Given the description of an element on the screen output the (x, y) to click on. 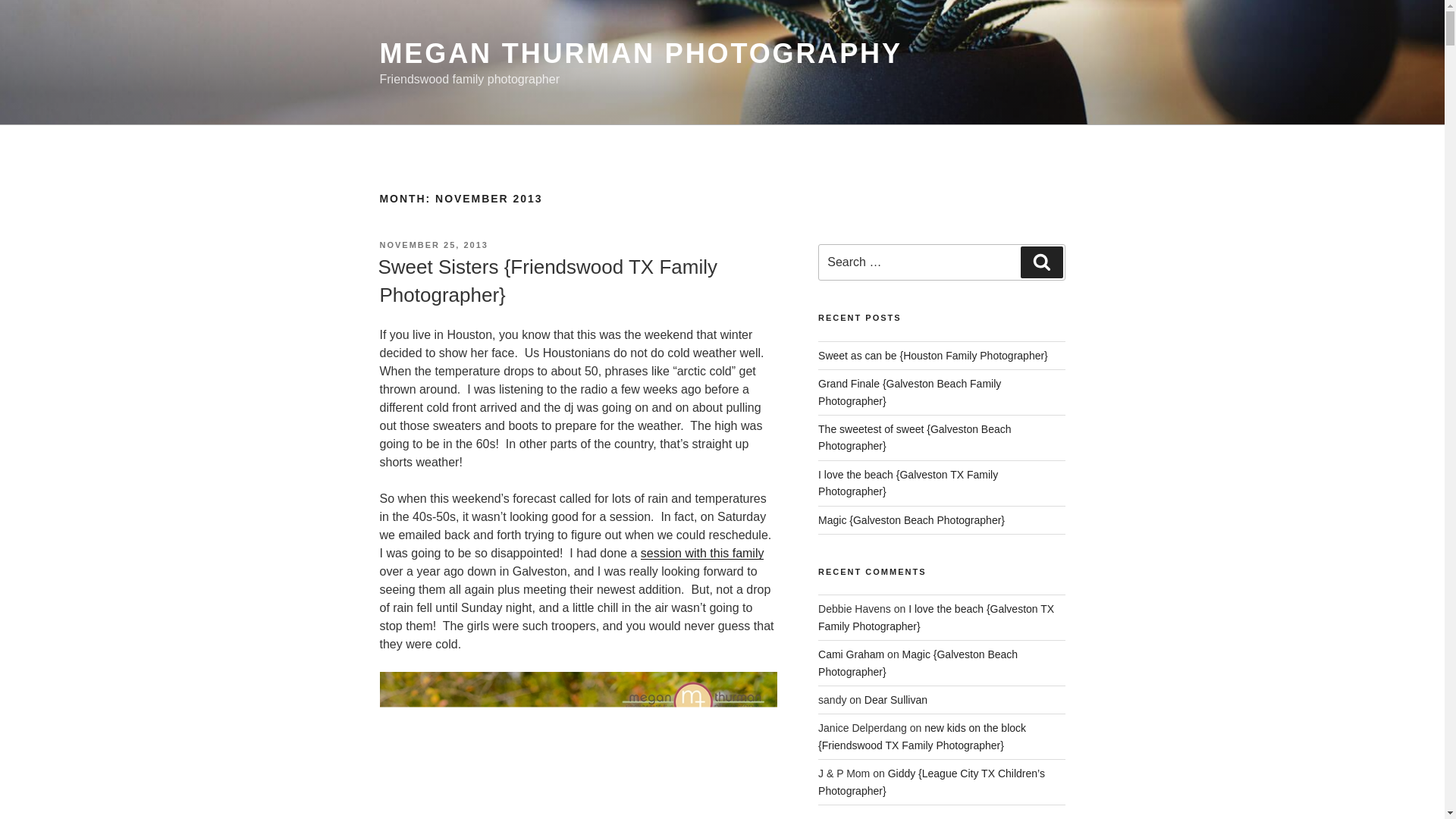
MEGAN THURMAN PHOTOGRAPHY (639, 52)
session with this family (702, 553)
NOVEMBER 25, 2013 (432, 244)
